Given the description of an element on the screen output the (x, y) to click on. 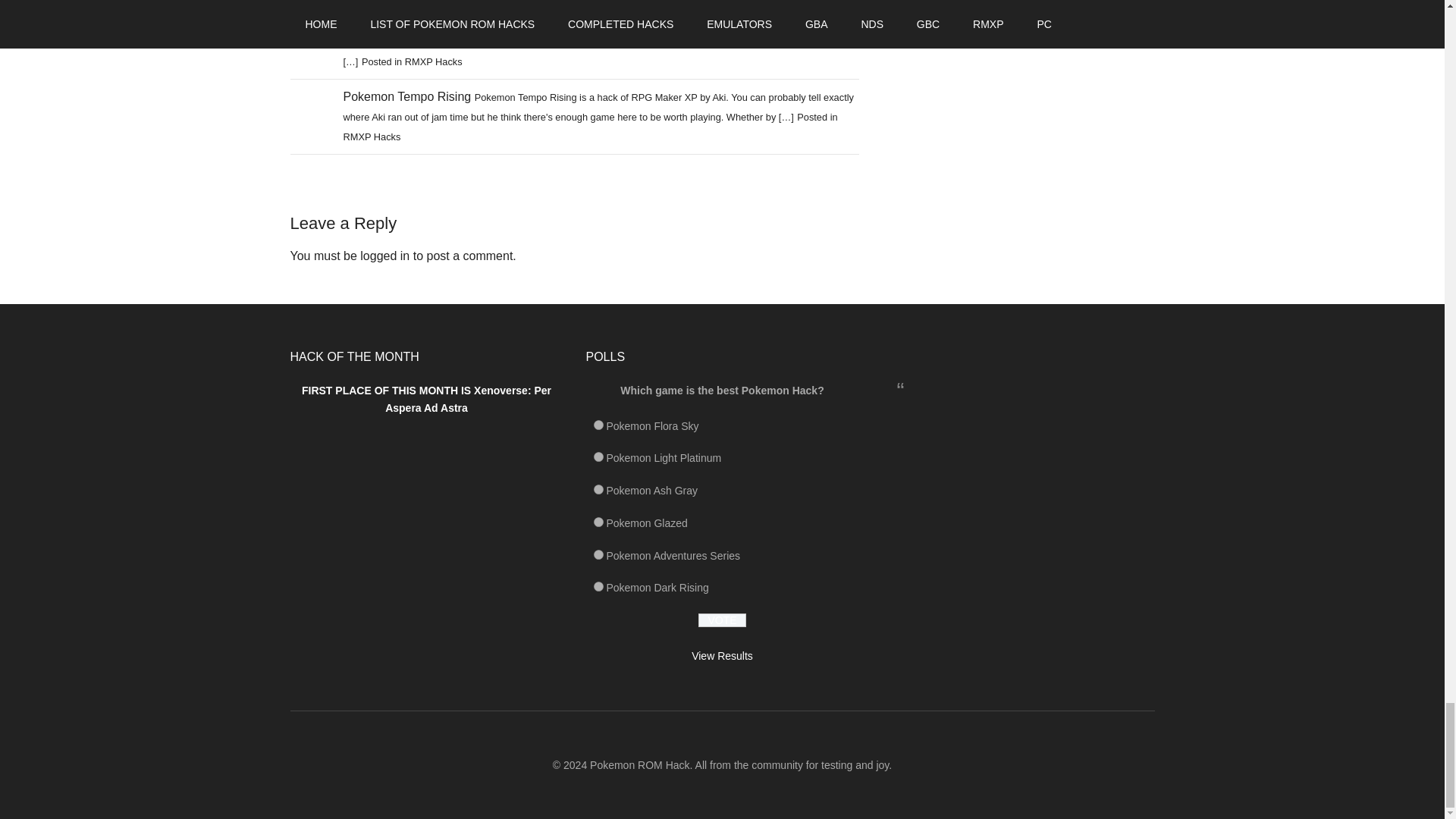
8 (597, 489)
11 (597, 554)
9 (597, 521)
6 (597, 424)
12 (597, 586)
7 (597, 456)
   Vote    (721, 620)
